Given the description of an element on the screen output the (x, y) to click on. 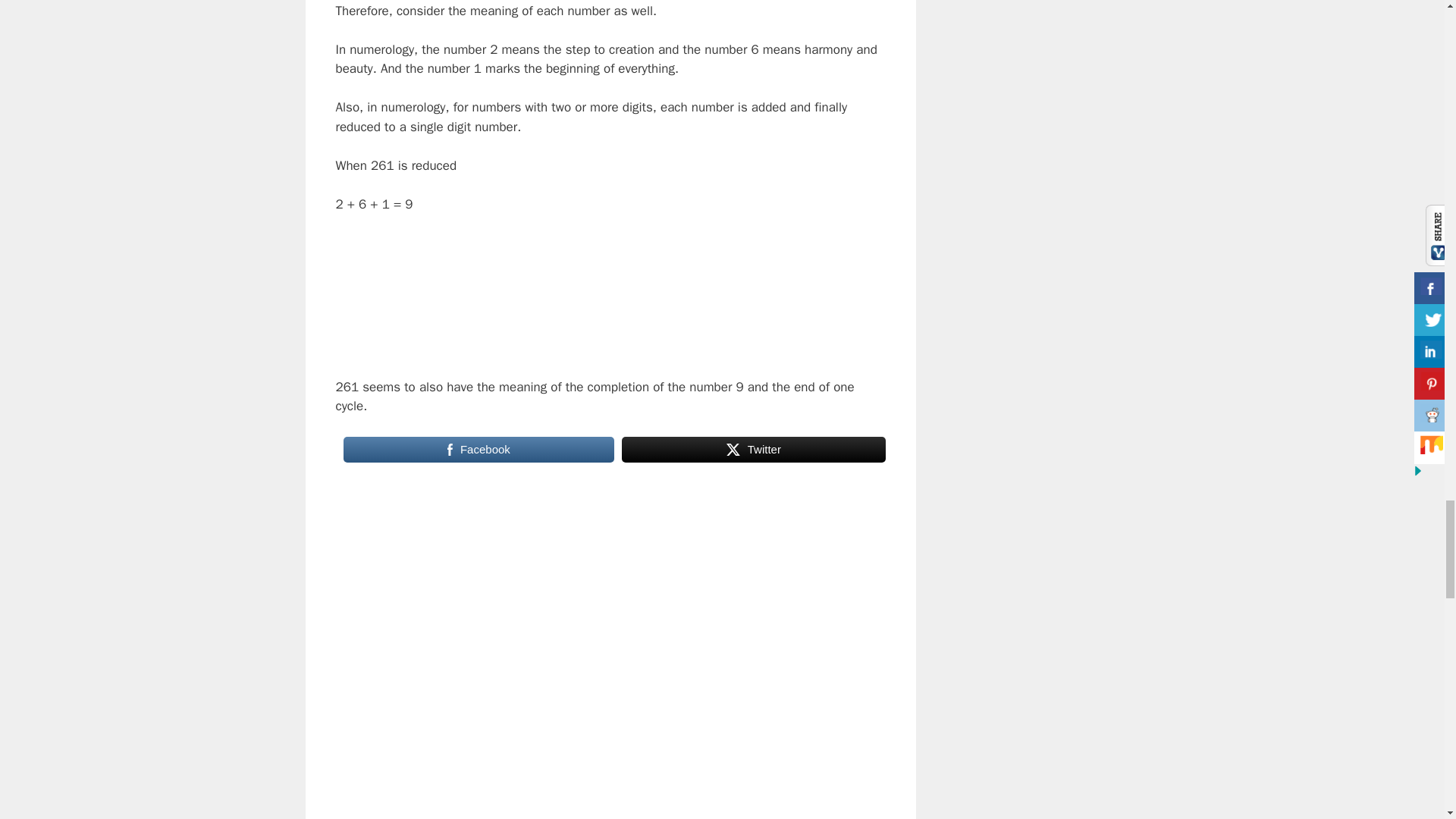
Twitter (753, 449)
Facebook (478, 449)
